Given the description of an element on the screen output the (x, y) to click on. 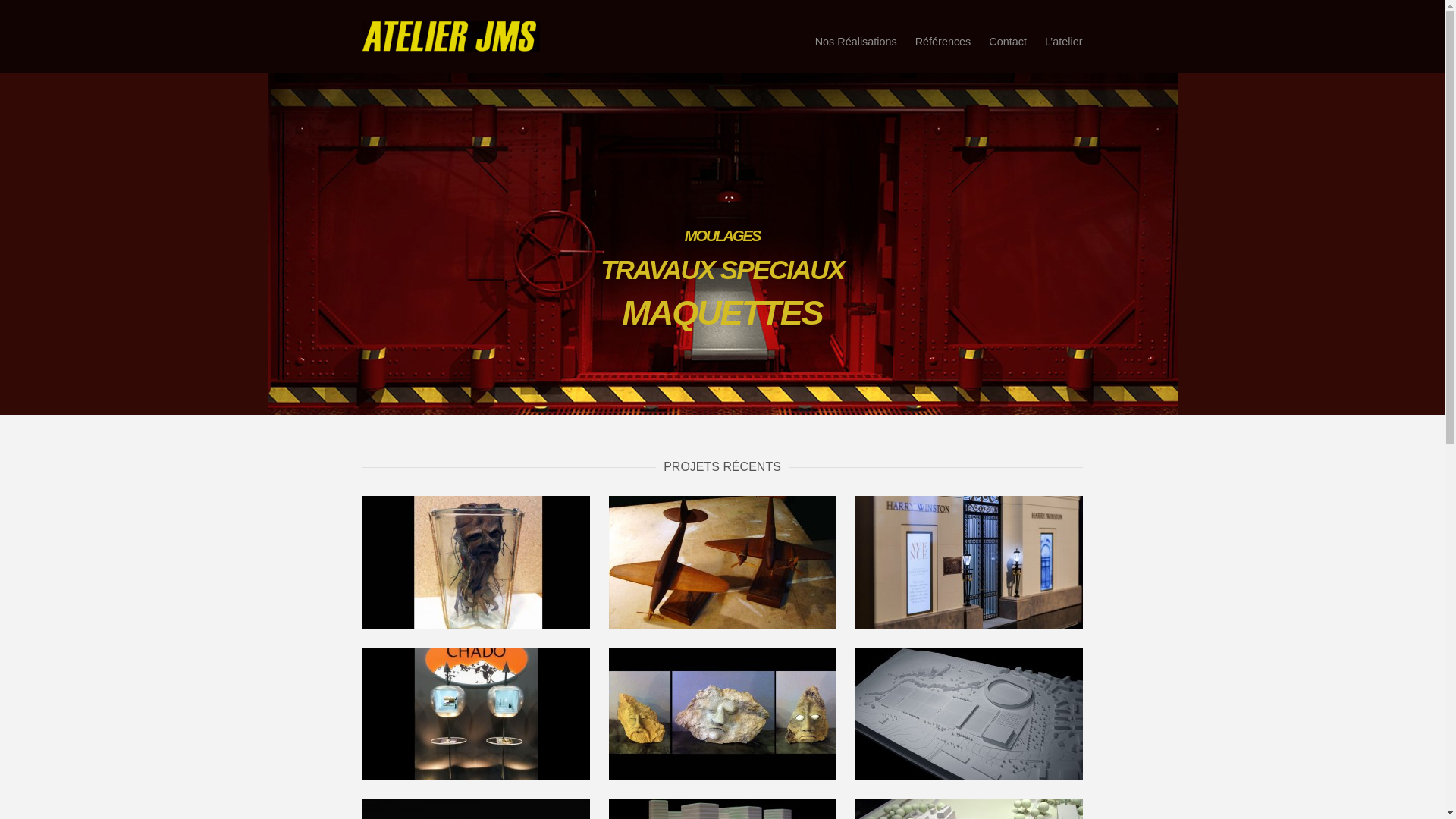
MAQUETTES Element type: text (721, 312)
TRAVAUX SPECIAUX Element type: text (722, 269)
Concours 1/1000 Element type: hover (968, 713)
Personnages Element type: hover (721, 713)
Contact Element type: text (1007, 41)
MOULAGES Element type: text (722, 235)
Restauration de maquettes Element type: hover (721, 561)
Design Element type: hover (475, 713)
